Given the description of an element on the screen output the (x, y) to click on. 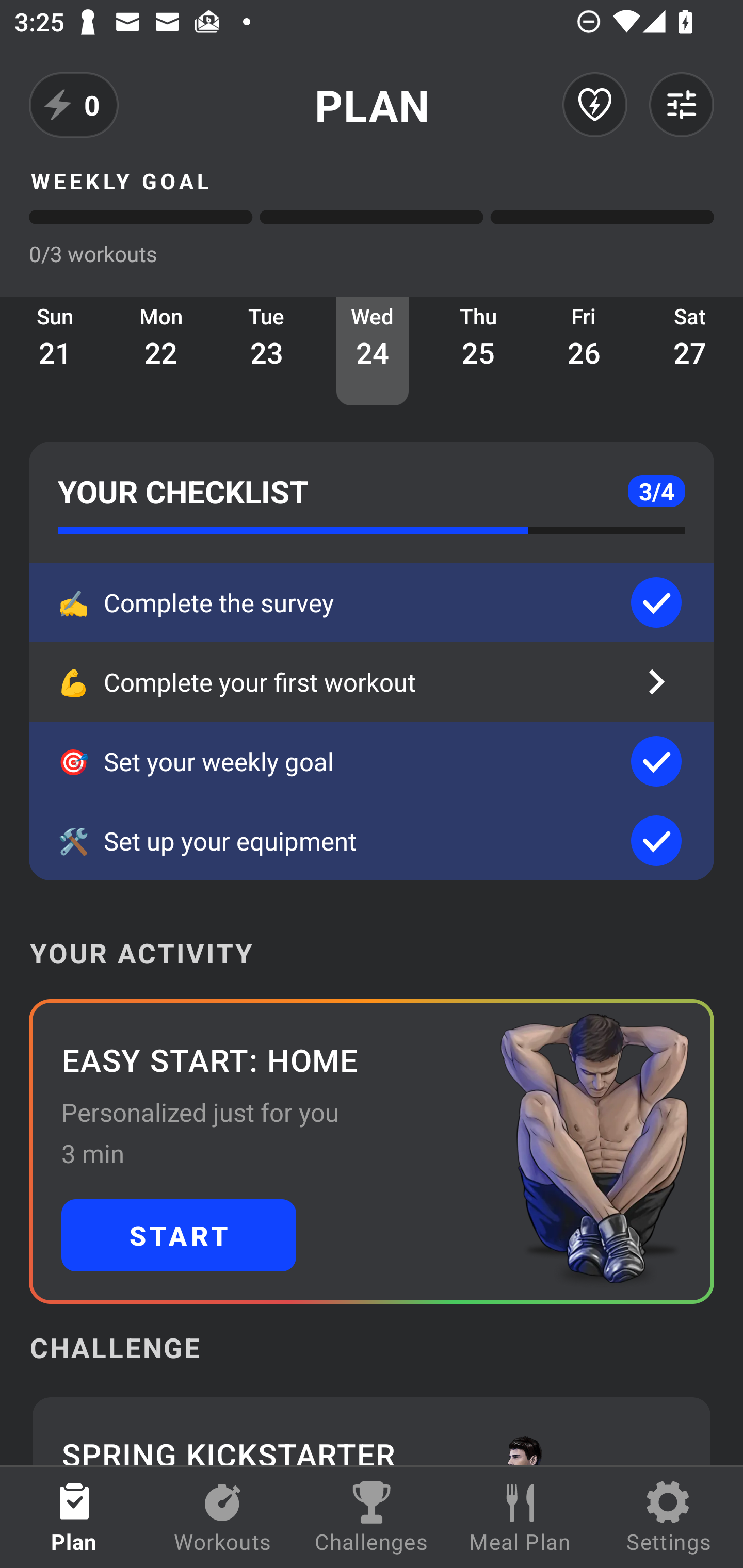
0 (73, 104)
Sun 21 (55, 351)
Mon 22 (160, 351)
Tue 23 (266, 351)
Wed 24 (372, 351)
Thu 25 (478, 351)
Fri 26 (584, 351)
Sat 27 (690, 351)
💪 Complete your first workout (371, 681)
START (178, 1235)
 Workouts  (222, 1517)
 Challenges  (371, 1517)
 Meal Plan  (519, 1517)
 Settings  (668, 1517)
